Given the description of an element on the screen output the (x, y) to click on. 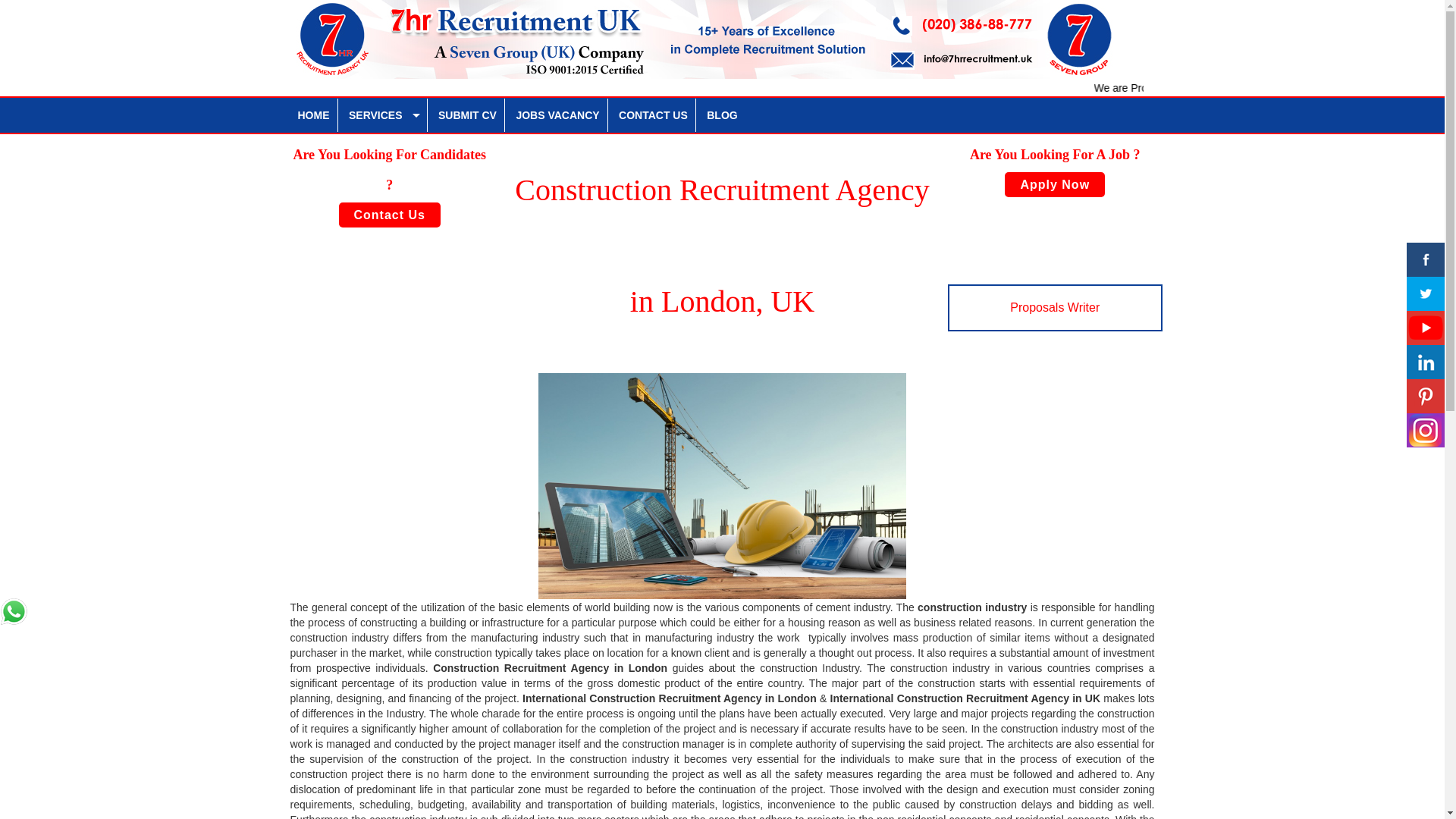
Proposals Writer (1054, 307)
London (647, 667)
SUBMIT CV (467, 114)
HOME (313, 114)
Apply Now (1054, 184)
SERVICES (384, 114)
JOBS VACANCY (557, 114)
BLOG (721, 114)
CONTACT US (653, 114)
Contact Us (390, 214)
